Given the description of an element on the screen output the (x, y) to click on. 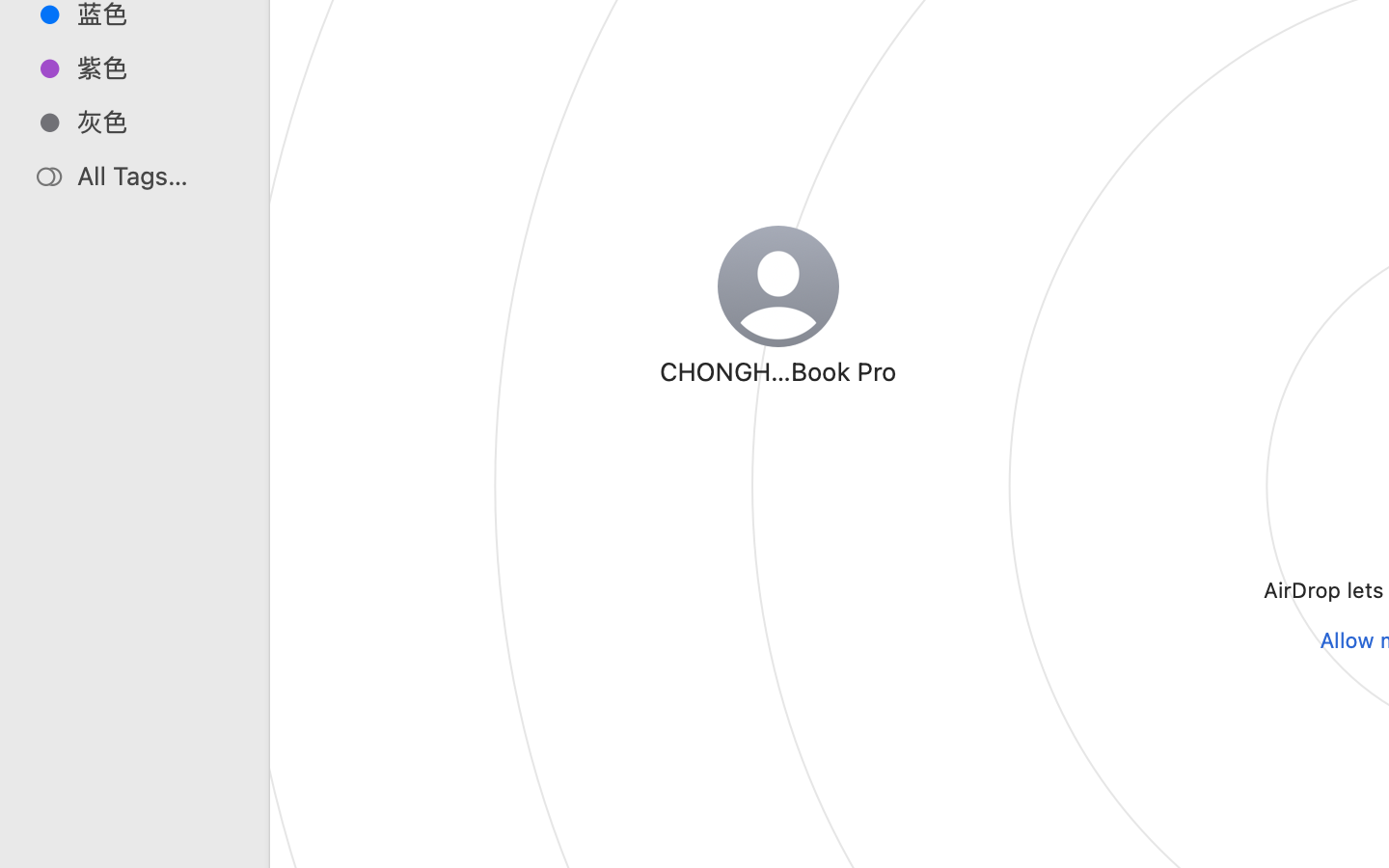
紫色 Element type: AXStaticText (155, 67)
All Tags… Element type: AXStaticText (155, 175)
